Given the description of an element on the screen output the (x, y) to click on. 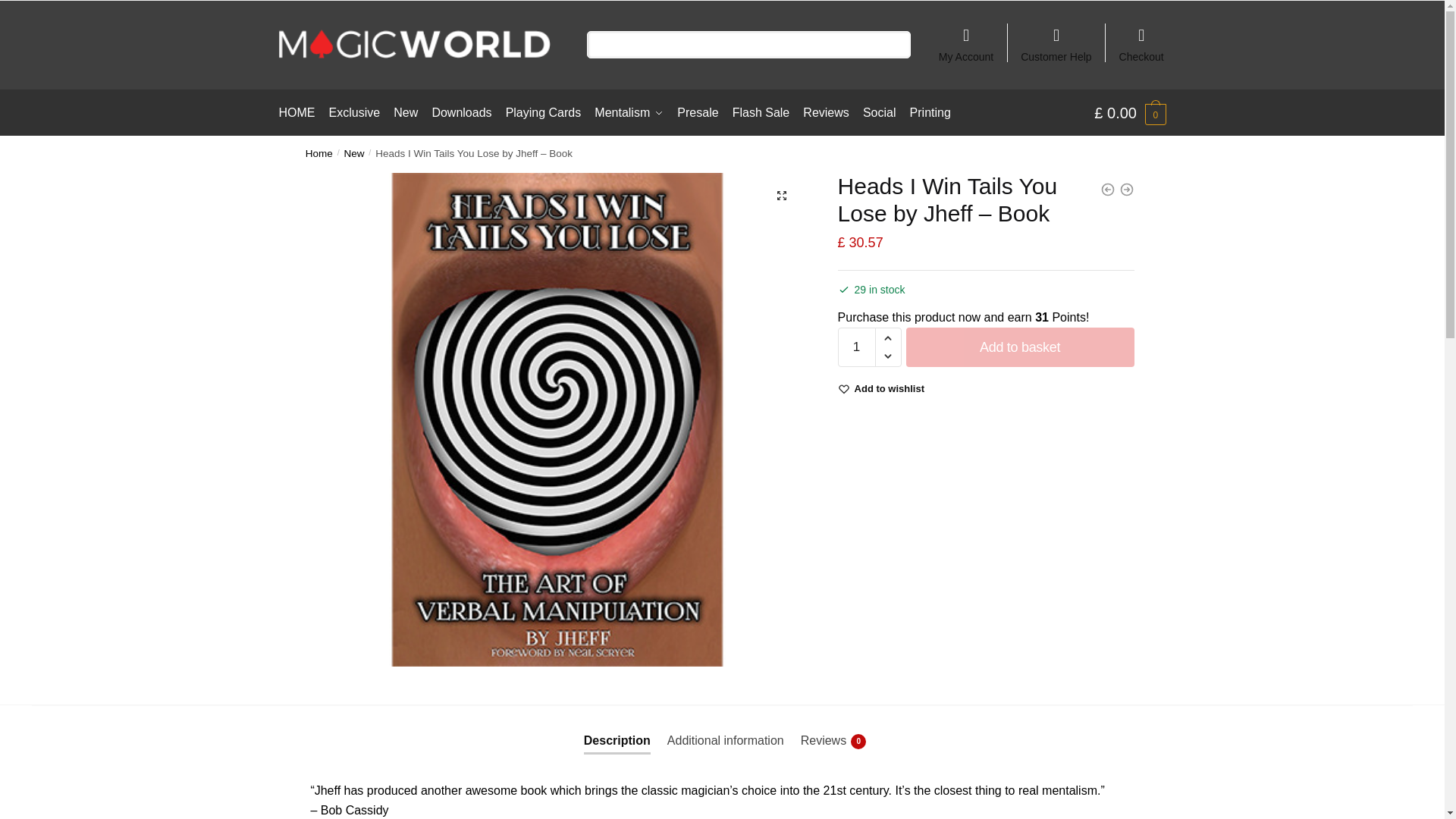
Downloads (462, 112)
Social (879, 112)
Customer Help (1055, 37)
1 (857, 346)
Wishlist (889, 388)
Playing Cards (543, 112)
Printing (930, 112)
My Account (966, 37)
Flash Sale (760, 112)
Mentalism (629, 112)
Checkout (1141, 37)
Home (319, 153)
Presale (698, 112)
New (354, 153)
